Given the description of an element on the screen output the (x, y) to click on. 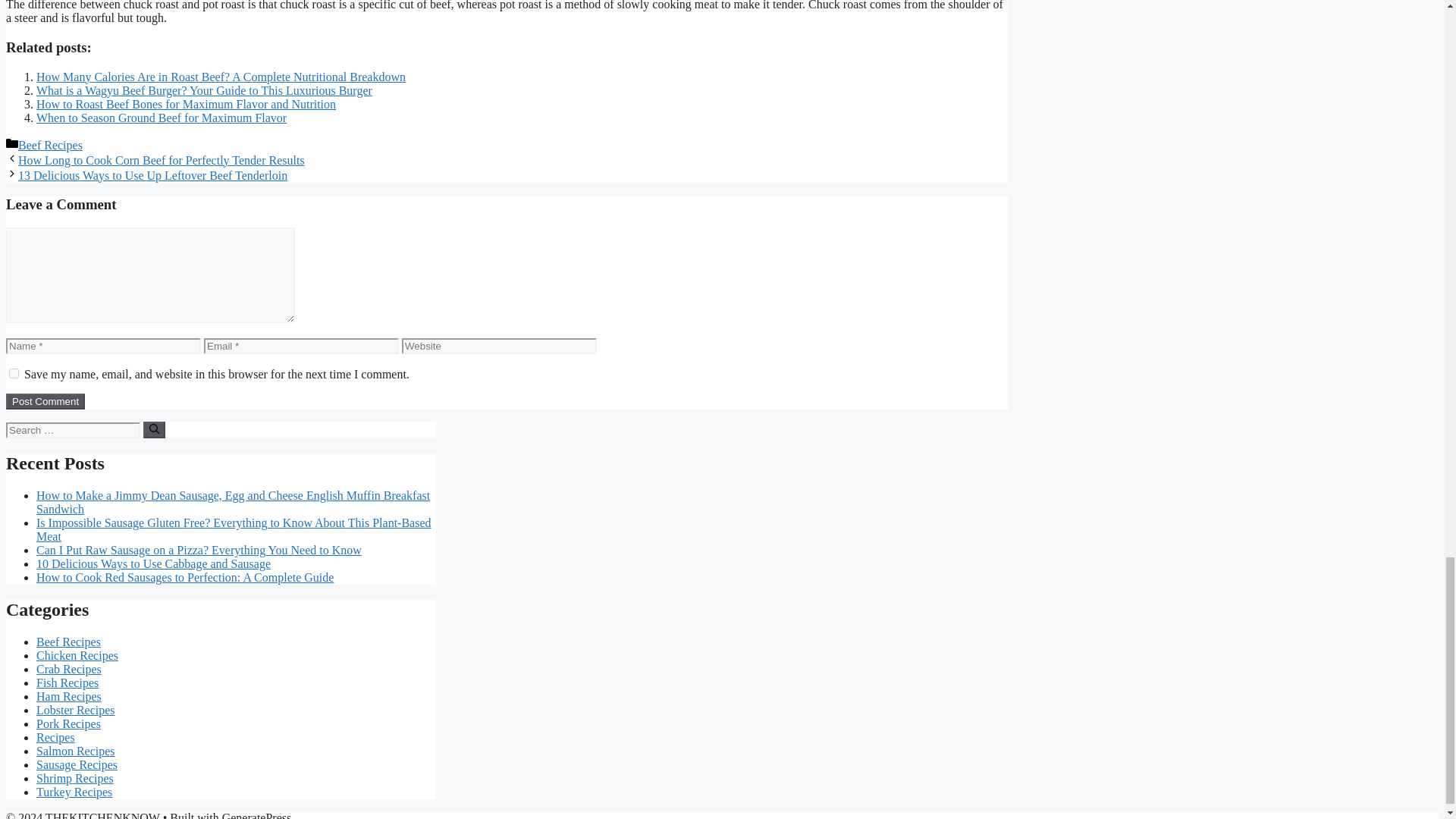
When to Season Ground Beef for Maximum Flavor (161, 117)
Shrimp Recipes (74, 778)
How to Roast Beef Bones for Maximum Flavor and Nutrition (186, 103)
10 Delicious Ways to Use Cabbage and Sausage (153, 563)
Sausage Recipes (76, 764)
yes (13, 373)
Search for: (72, 430)
Beef Recipes (49, 144)
Recipes (55, 737)
Fish Recipes (67, 682)
Chicken Recipes (76, 655)
